Given the description of an element on the screen output the (x, y) to click on. 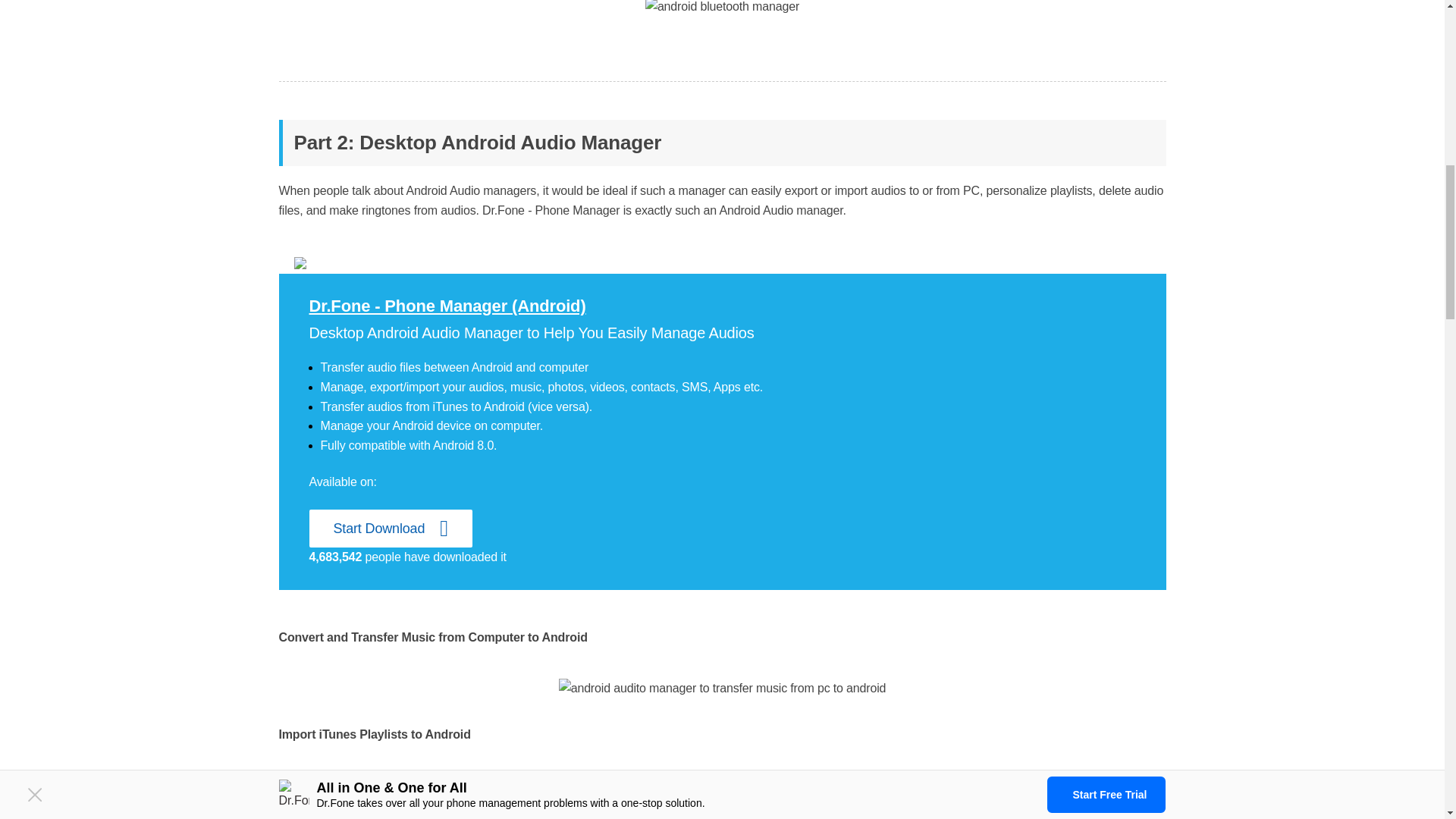
android transfer (447, 304)
